Given the description of an element on the screen output the (x, y) to click on. 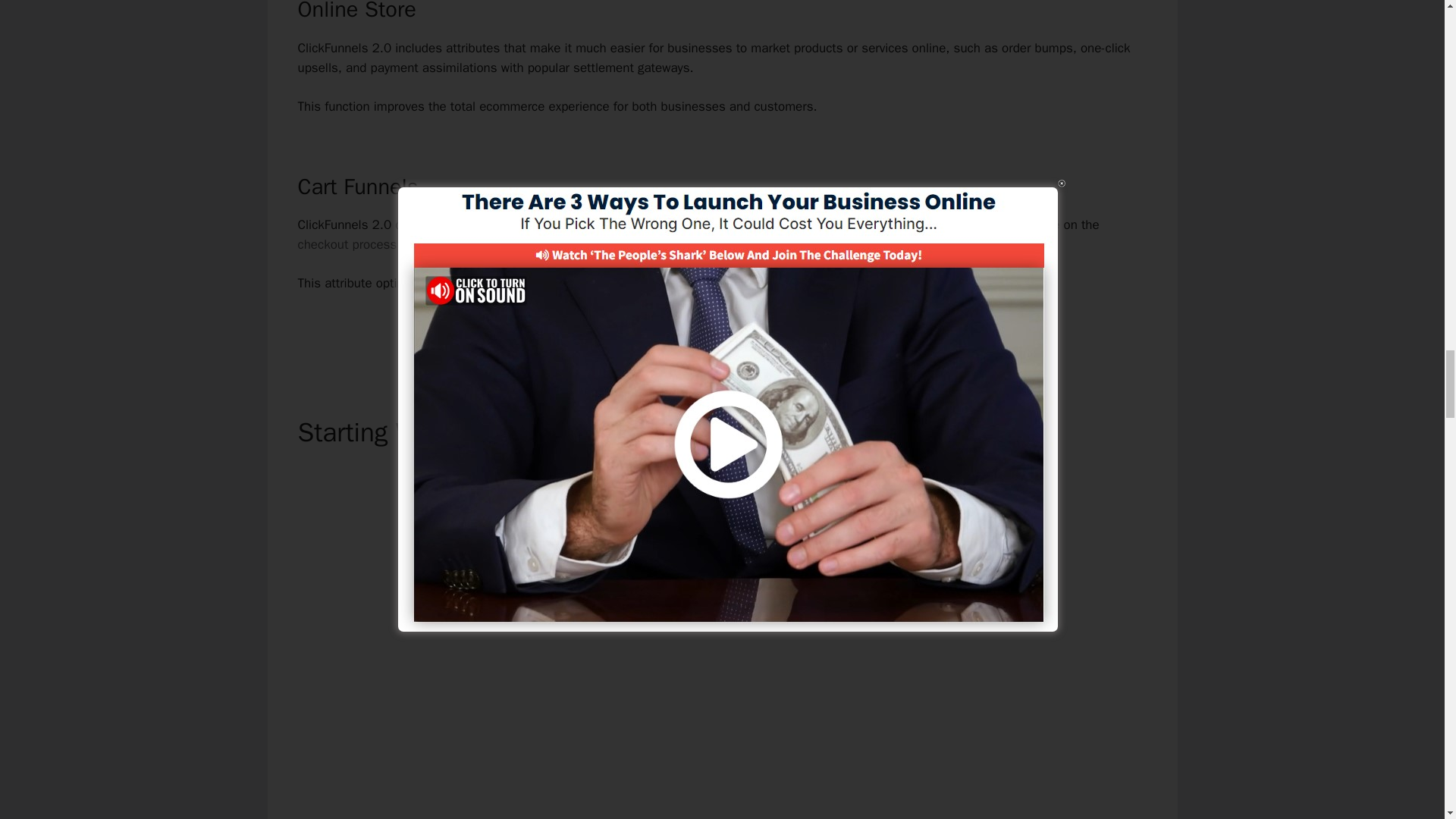
Visit Here To View All Templates Today (722, 335)
checkout process (346, 244)
